Given the description of an element on the screen output the (x, y) to click on. 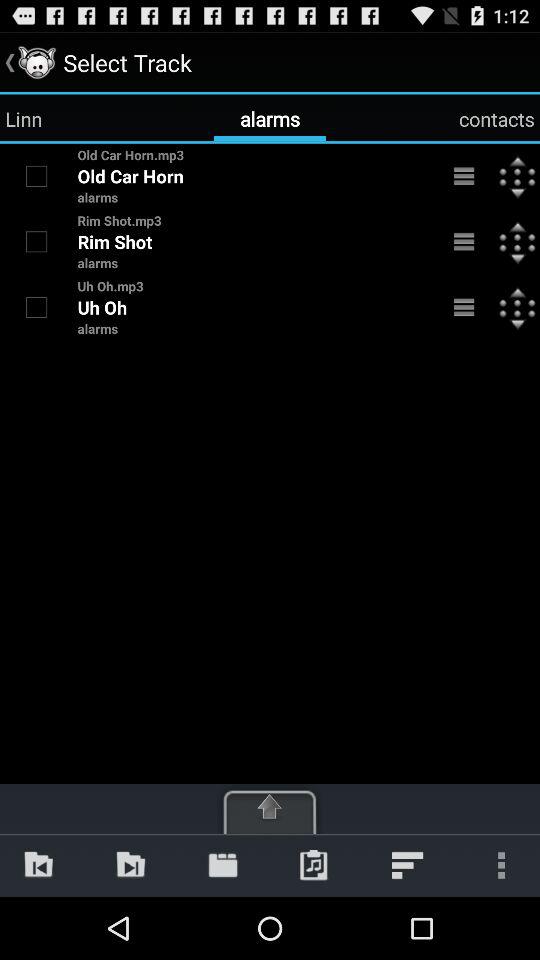
open list item context menu (463, 307)
